Given the description of an element on the screen output the (x, y) to click on. 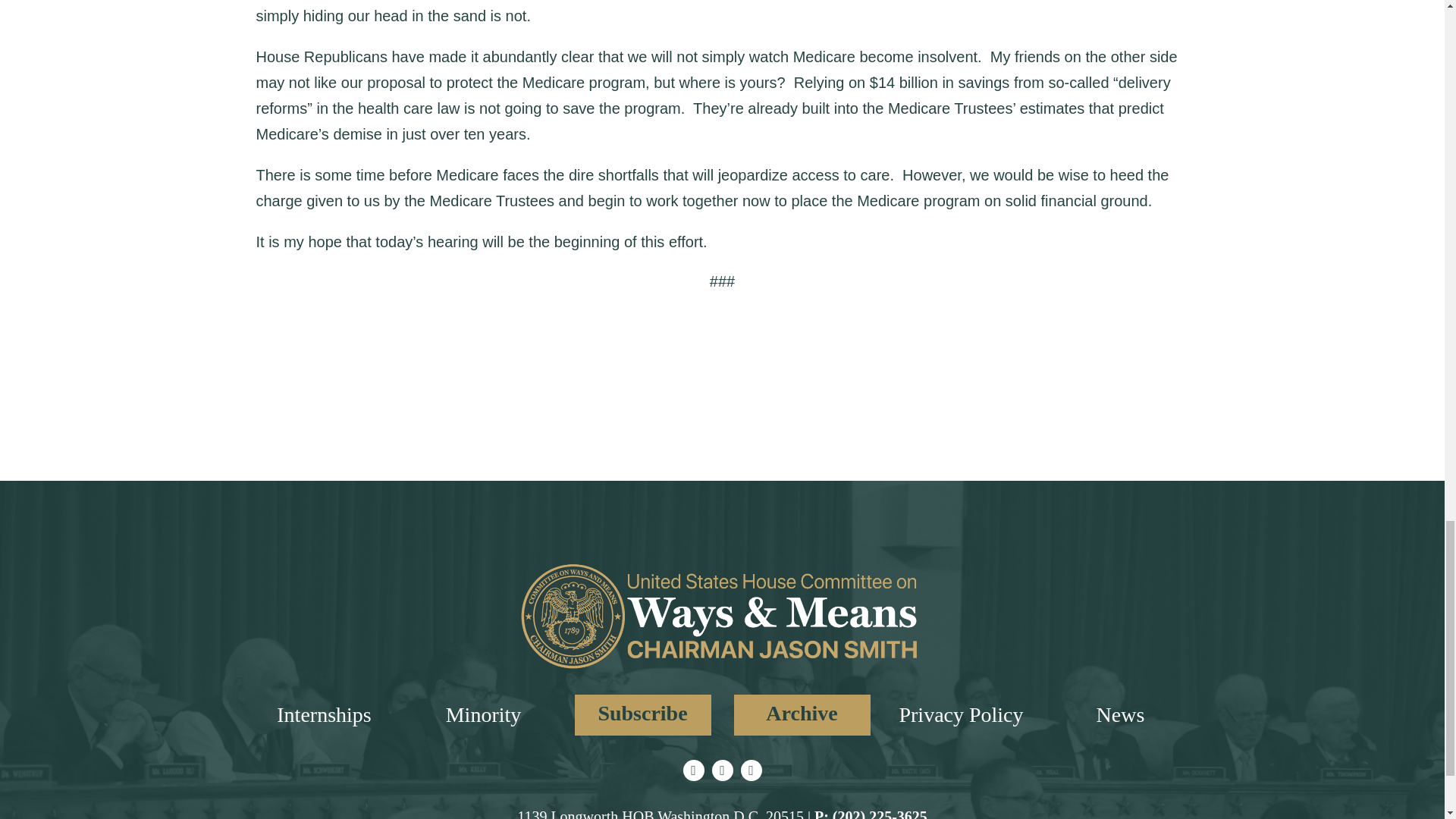
Instagram (721, 770)
Privacy Policy (960, 715)
News (1120, 715)
Archive (801, 714)
Internships (323, 715)
Youtube (750, 770)
Twitter (692, 770)
Subscribe (643, 714)
Minority (483, 715)
